Given the description of an element on the screen output the (x, y) to click on. 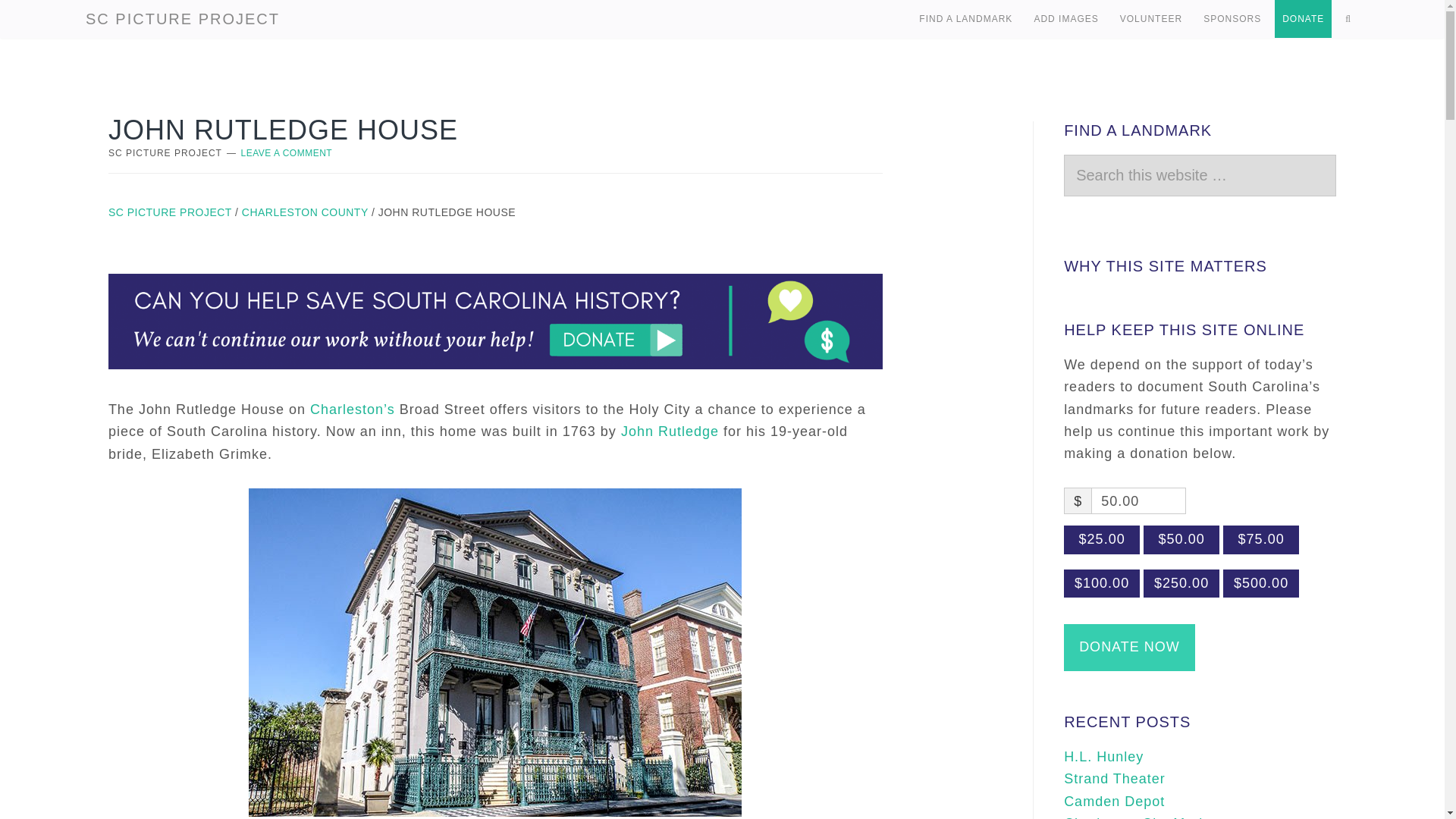
VOLUNTEER (1150, 18)
FIND A LANDMARK (965, 18)
John Rutledge (670, 431)
ADD IMAGES (1065, 18)
DONATE (1303, 18)
CHARLESTON COUNTY (304, 212)
SPONSORS (1231, 18)
LEAVE A COMMENT (287, 153)
SC PICTURE PROJECT (169, 212)
SC PICTURE PROJECT (182, 18)
